Given the description of an element on the screen output the (x, y) to click on. 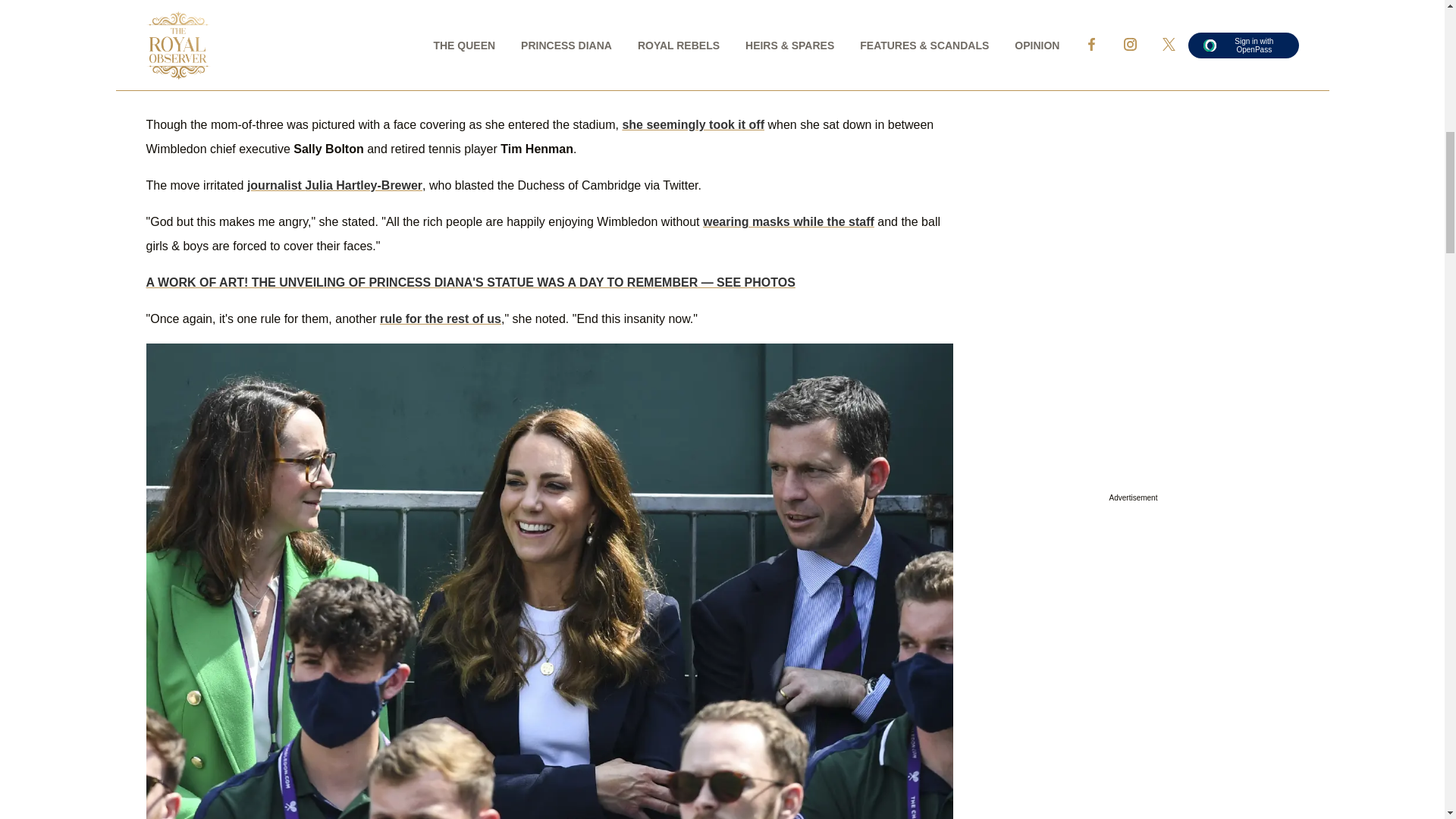
of the Wimbledon Tournament (651, 38)
she seemingly took it off (692, 124)
wearing masks while the staff (789, 221)
journalist Julia Hartley-Brewer (334, 185)
rule for the rest of us (440, 318)
